Given the description of an element on the screen output the (x, y) to click on. 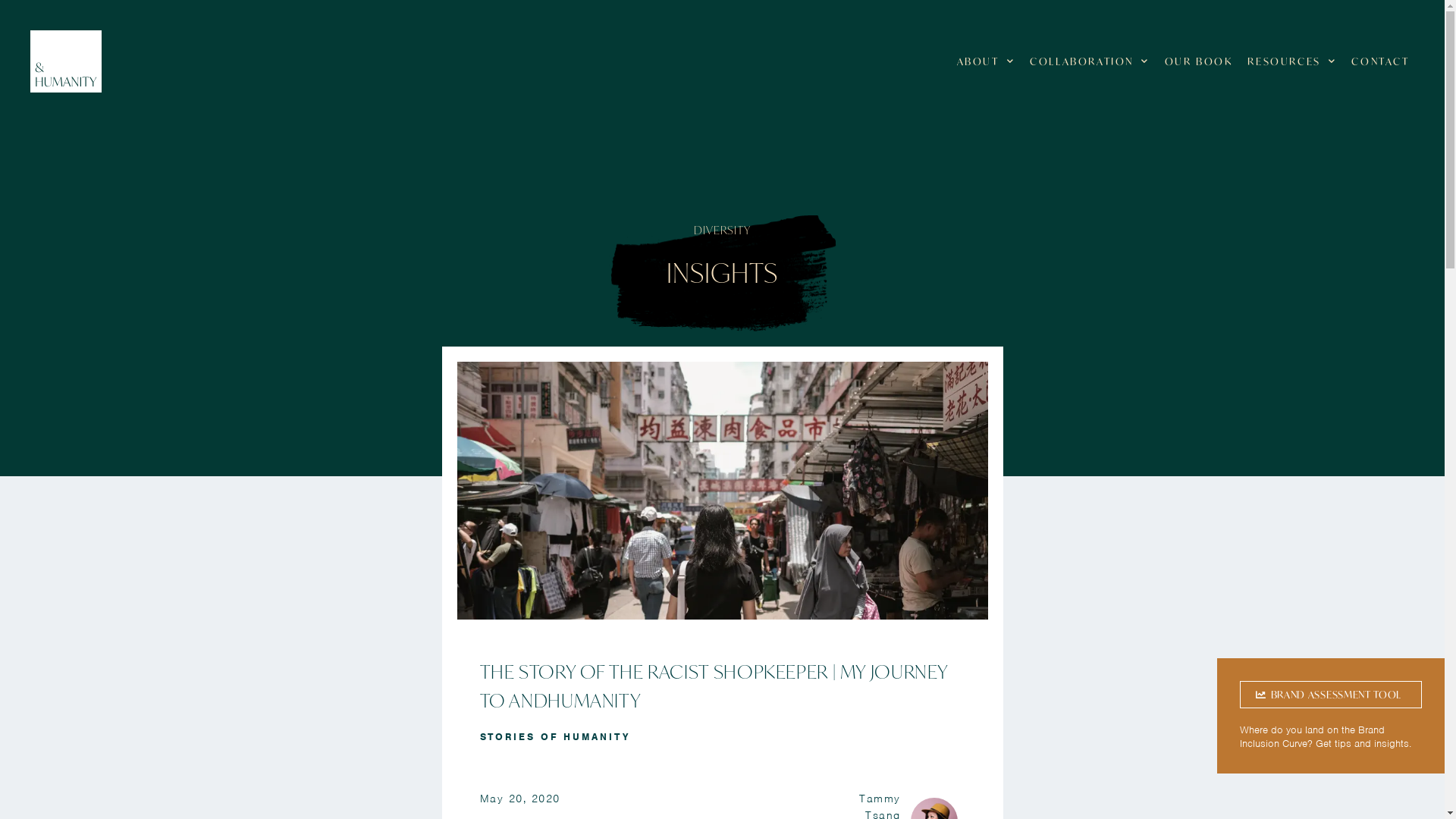
ABOUT Element type: text (986, 61)
STORIES OF HUMANITY Element type: text (554, 736)
RESOURCES Element type: text (1291, 61)
OUR BOOK Element type: text (1198, 61)
COLLABORATION Element type: text (1088, 61)
CONTACT Element type: text (1379, 61)
BRAND ASSESSMENT TOOL Element type: text (1330, 694)
